Given the description of an element on the screen output the (x, y) to click on. 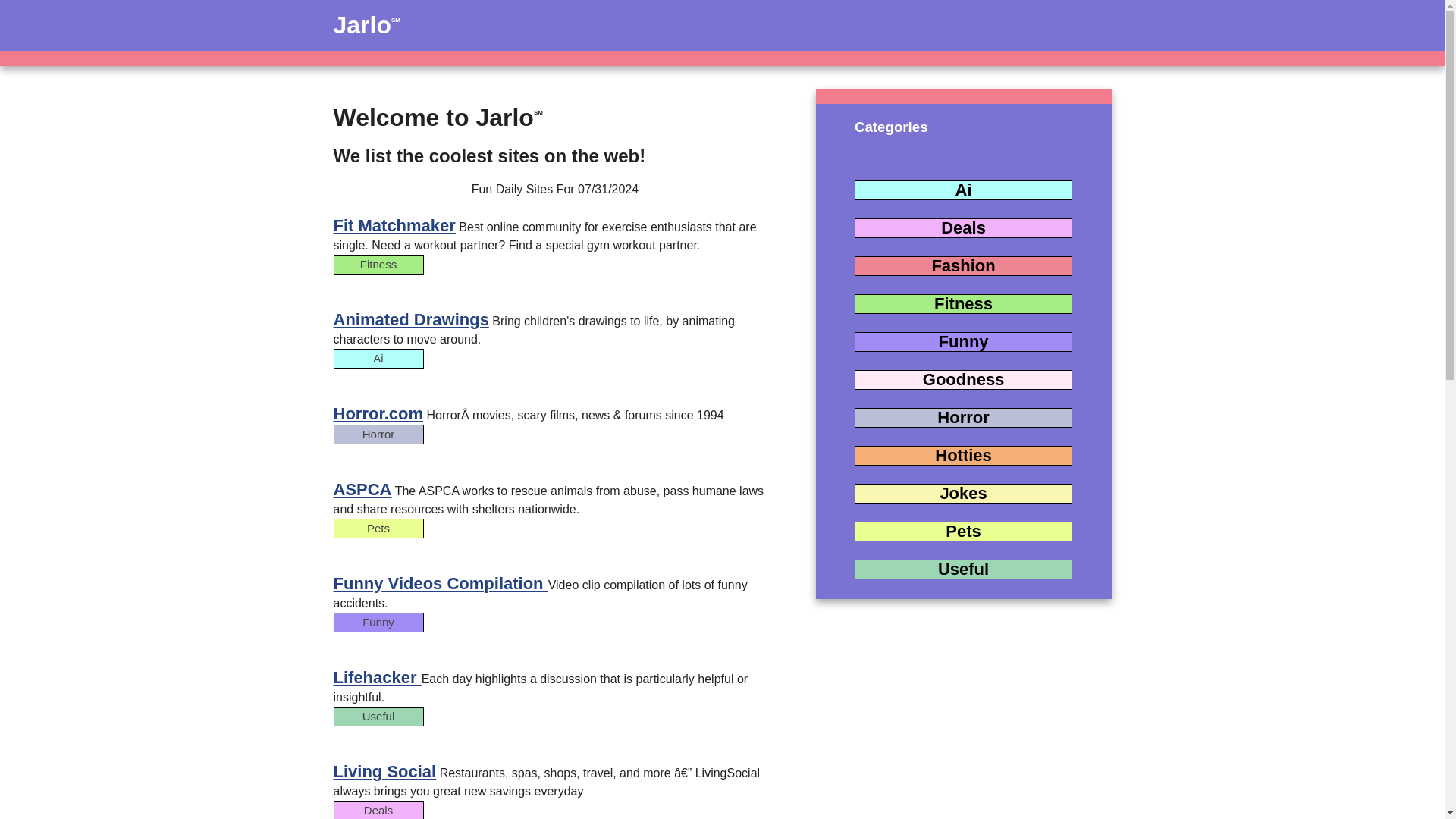
Goodness (962, 387)
Funny Videos Compilation (440, 583)
Deals (962, 235)
Fitness (555, 279)
Living Social (384, 771)
Funny (962, 349)
Horror (962, 425)
Horror (555, 450)
Funny (555, 637)
Animated Drawings (411, 319)
Lifehacker (377, 677)
Deals (555, 809)
Fit Matchmaker (394, 225)
Hotties (962, 462)
Useful (555, 731)
